Given the description of an element on the screen output the (x, y) to click on. 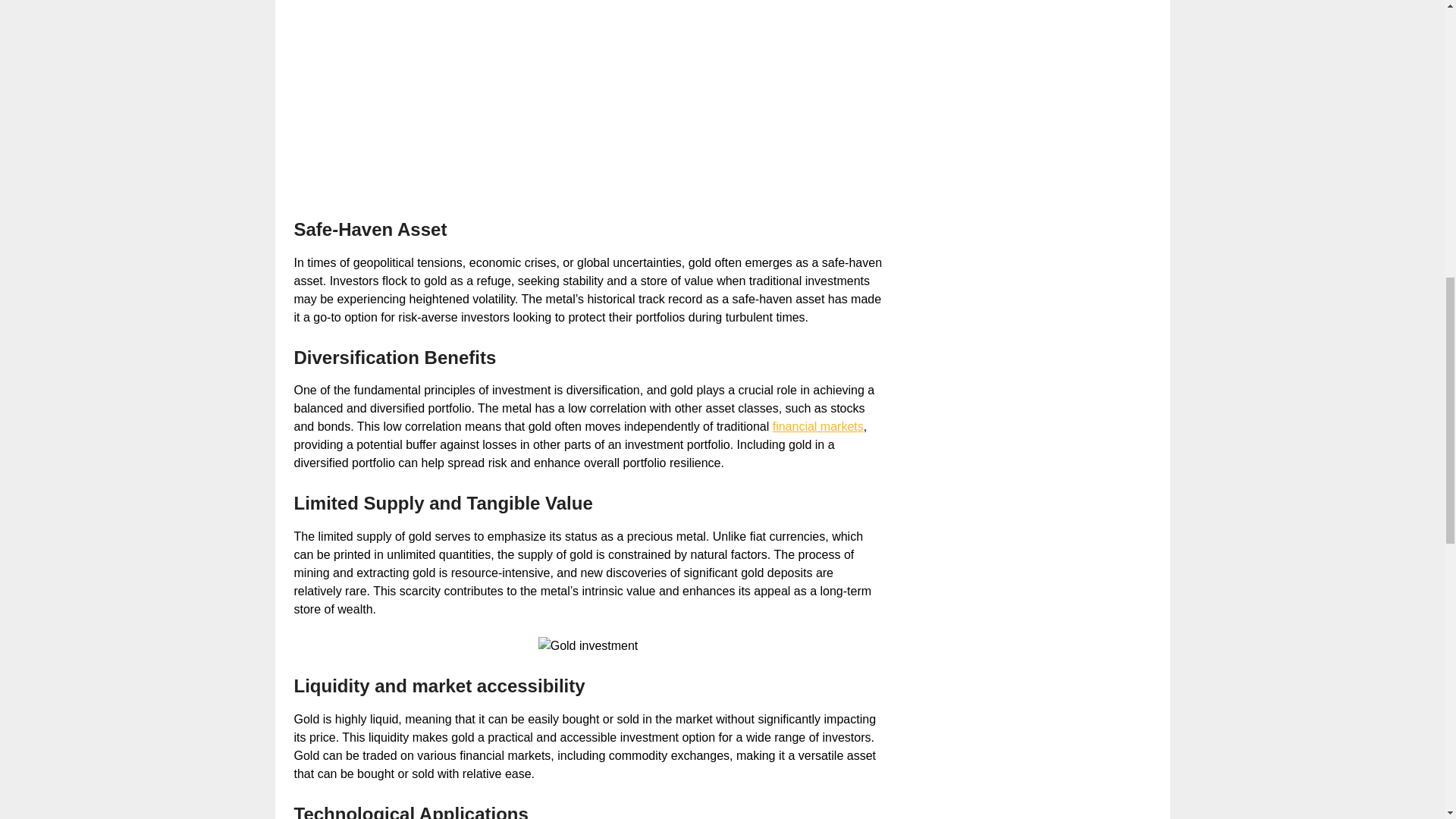
financial markets (818, 426)
